Given the description of an element on the screen output the (x, y) to click on. 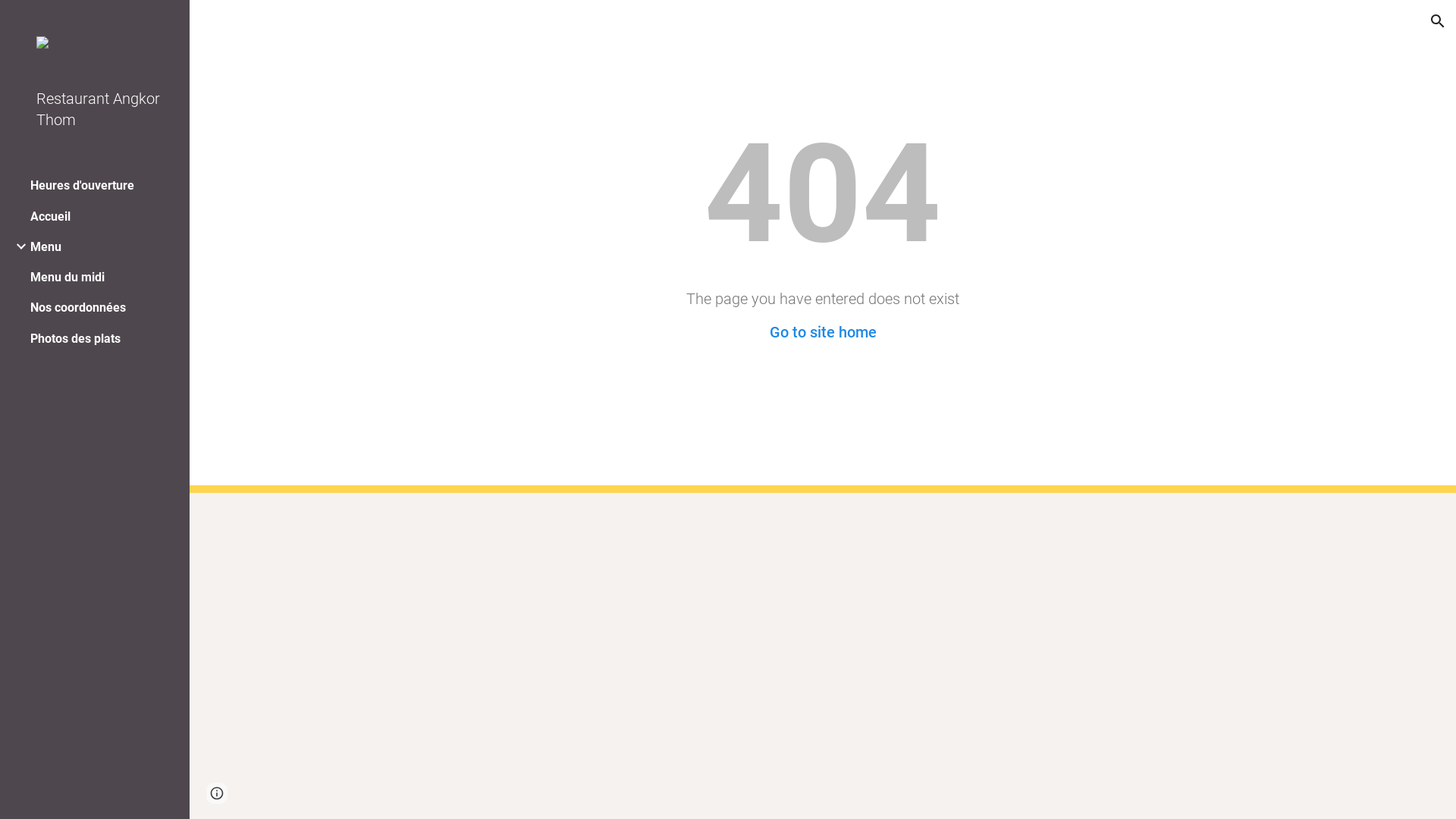
Heures d'ouverture Element type: text (82, 185)
Menu Element type: text (45, 246)
Restaurant Angkor Thom Element type: text (100, 108)
Photos des plats Element type: text (75, 338)
Menu du midi Element type: text (67, 276)
Accueil Element type: text (50, 216)
Go to site home Element type: text (821, 332)
Expand/Collapse Element type: hover (16, 246)
